Given the description of an element on the screen output the (x, y) to click on. 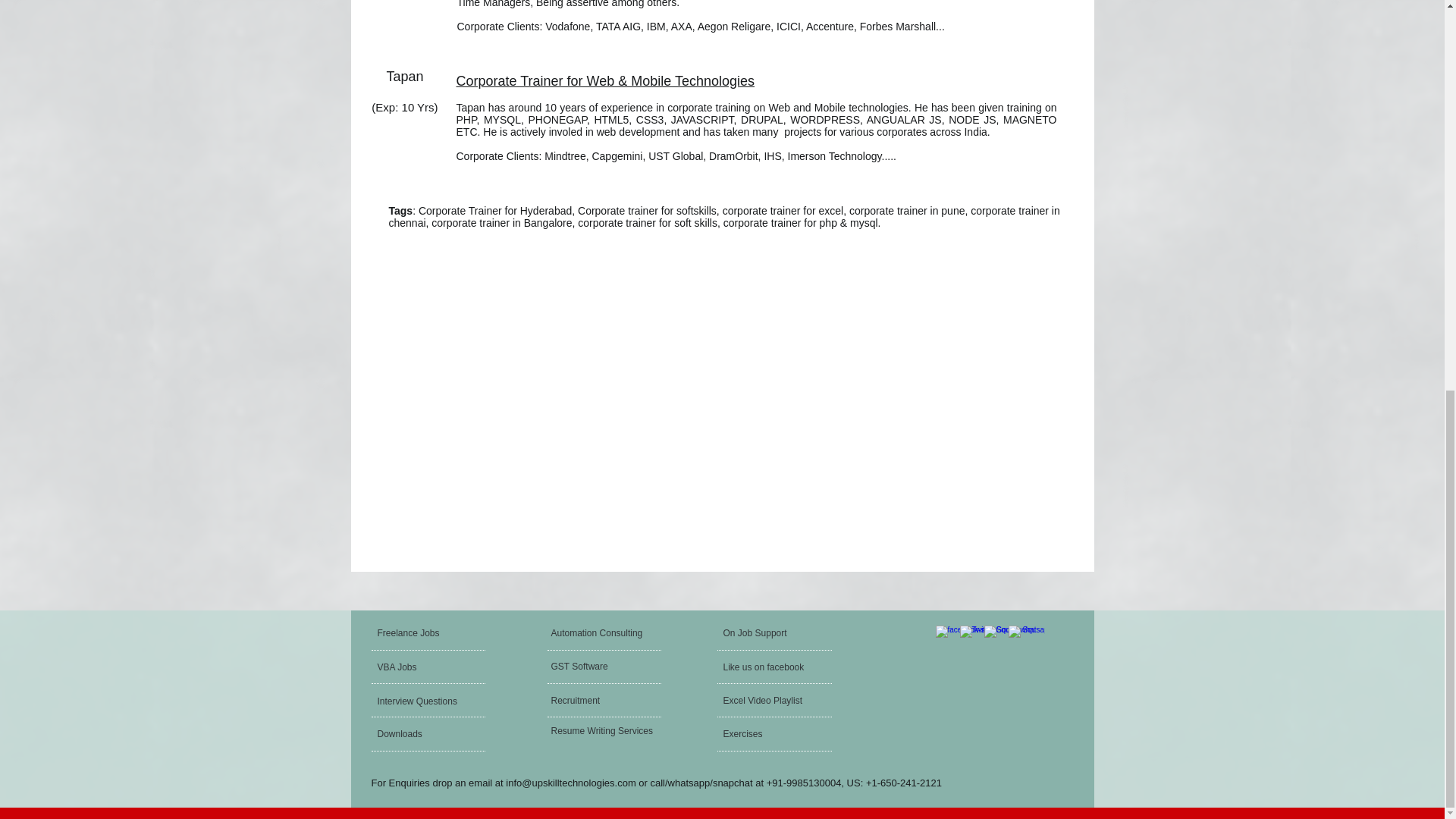
Downloads (418, 733)
Interview Questions (419, 701)
VBA Jobs (418, 667)
Freelance Jobs (435, 632)
Automation Consulting (608, 632)
